Given the description of an element on the screen output the (x, y) to click on. 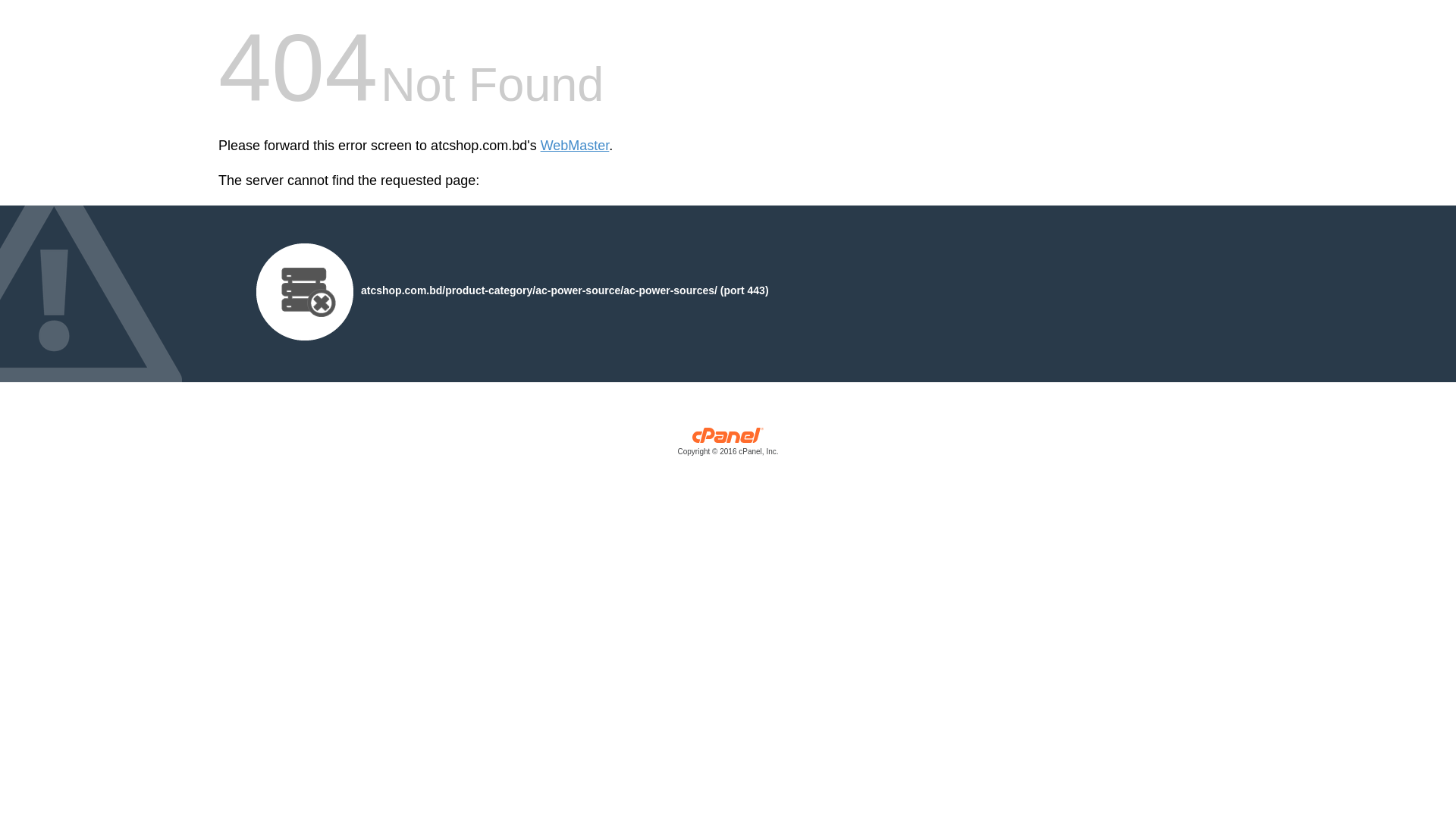
WebMaster Element type: text (574, 145)
